Given the description of an element on the screen output the (x, y) to click on. 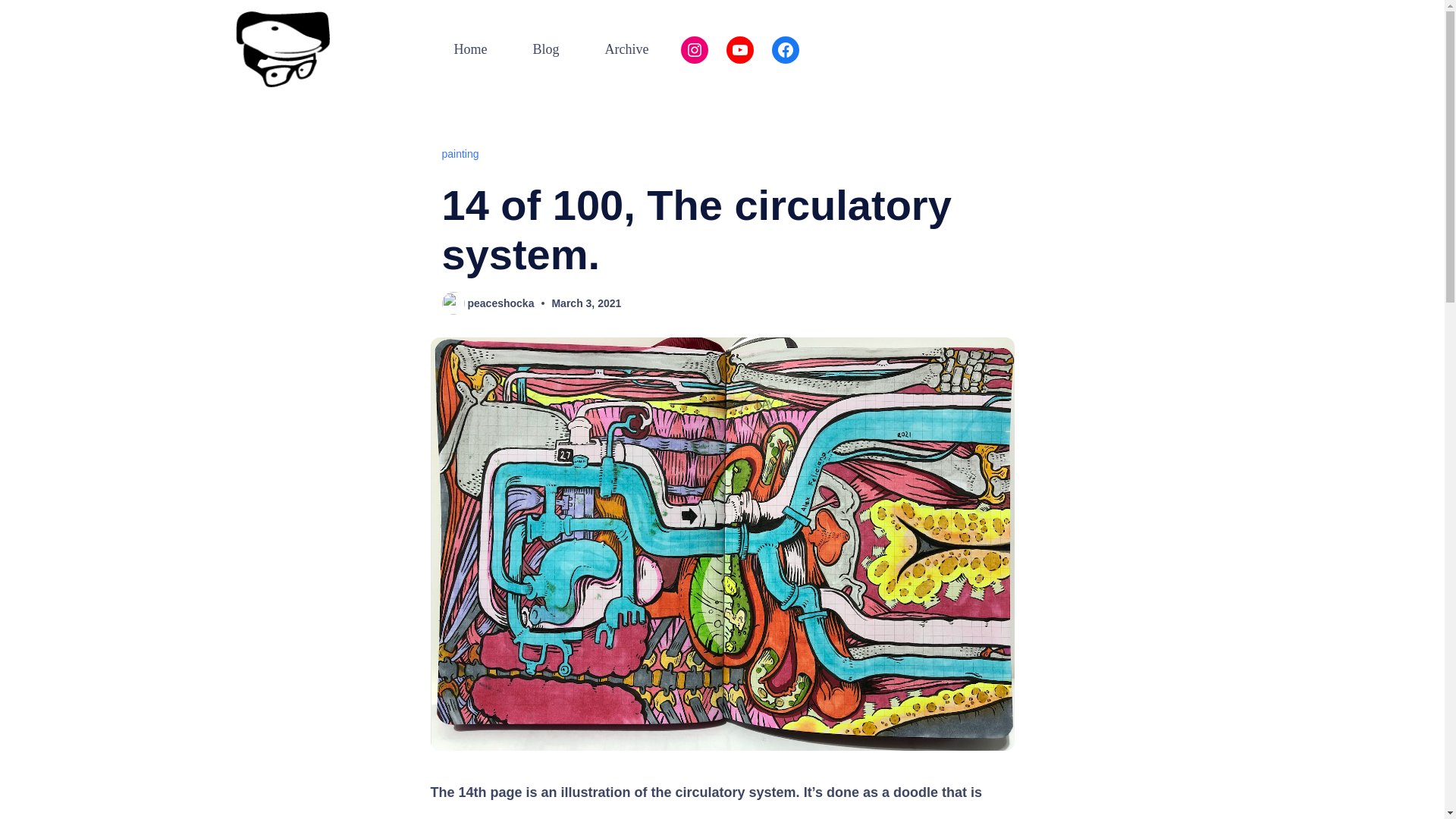
Home (469, 49)
Blog Alex Feliciano (545, 49)
YouTube (740, 49)
Facebook (785, 49)
painting (460, 153)
Archive (627, 49)
Blog (545, 49)
Instagram (694, 49)
